Given the description of an element on the screen output the (x, y) to click on. 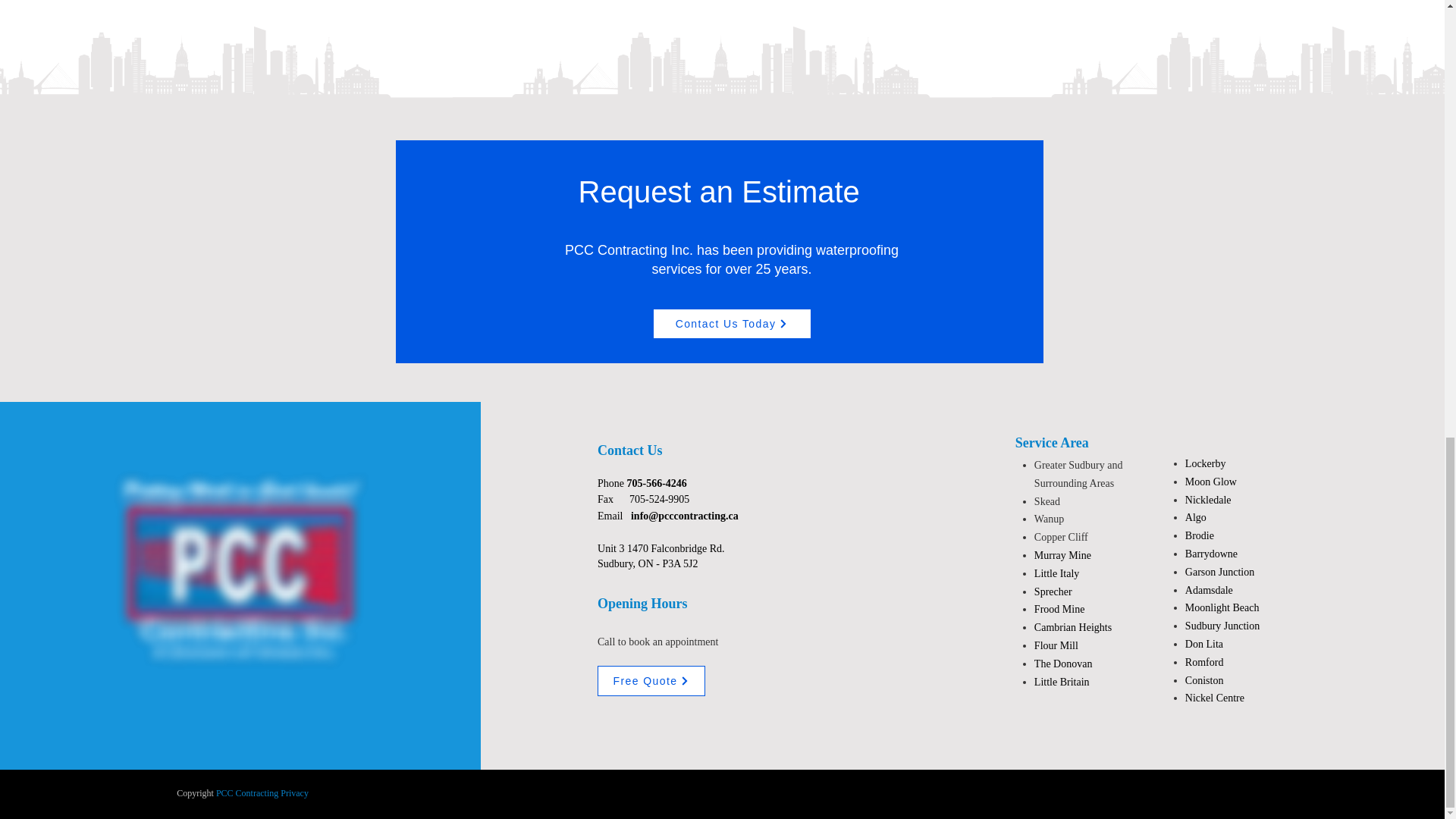
Free Quote (650, 680)
PCC Contracting (246, 792)
705-566-4246 (657, 482)
.ca  (733, 515)
Privacy (294, 793)
Contact Us Today (731, 323)
